Given the description of an element on the screen output the (x, y) to click on. 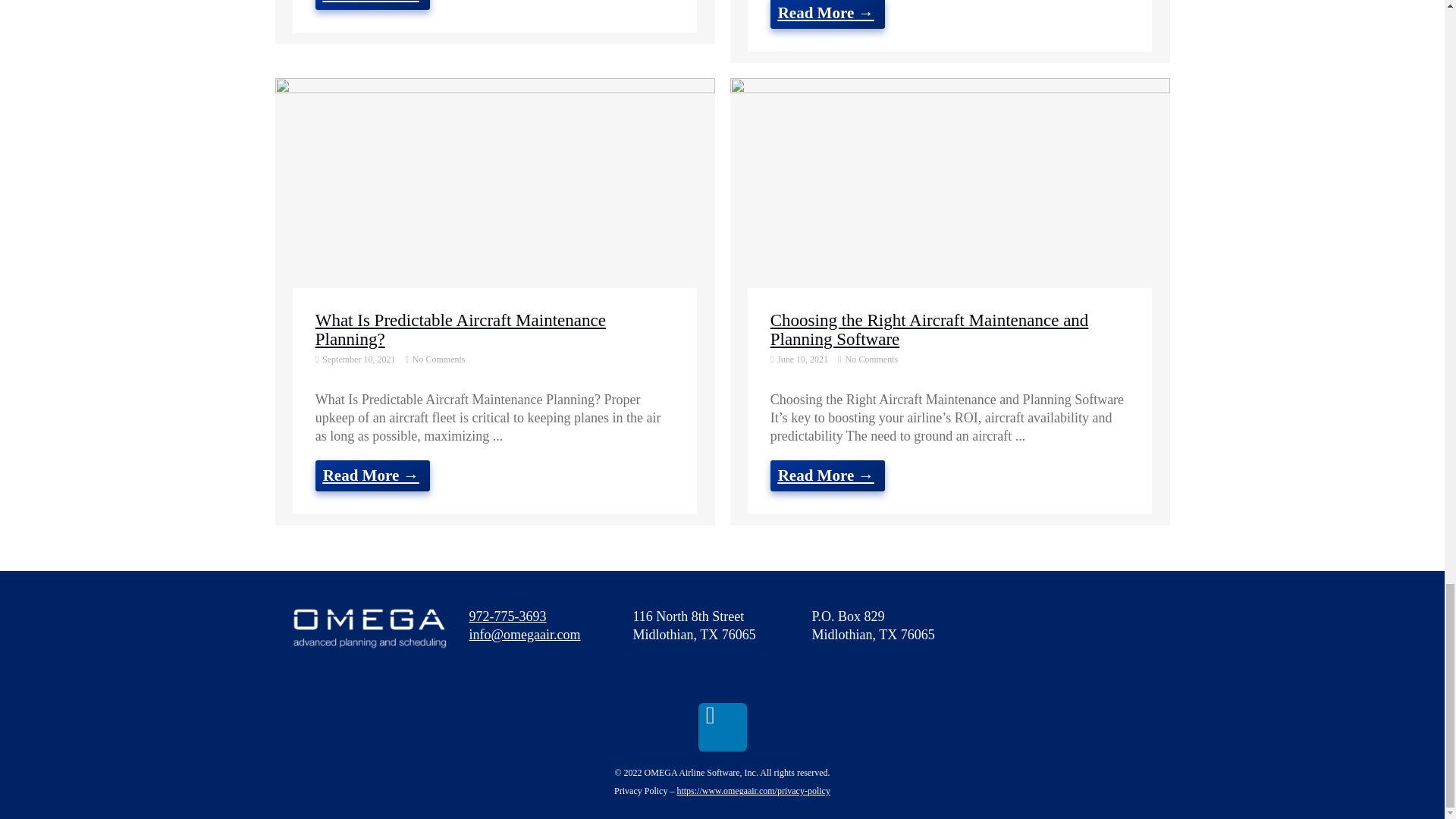
What Is Predictable Aircraft Maintenance Planning? (494, 200)
972-775-3693 (507, 616)
Linkedin (721, 726)
What Is Predictable Aircraft Maintenance Planning? (460, 329)
